Given the description of an element on the screen output the (x, y) to click on. 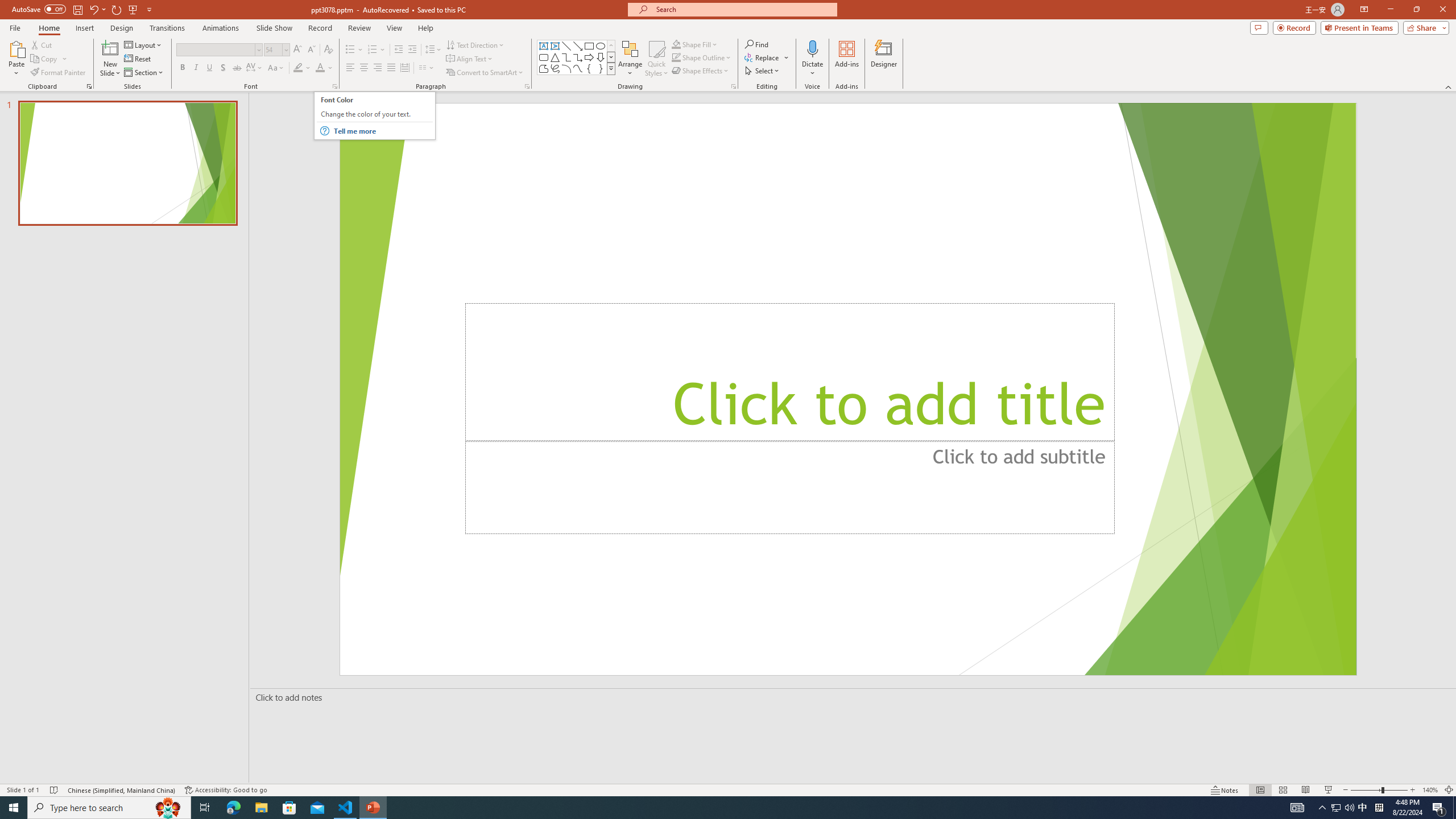
Zoom In (1412, 790)
Zoom (1379, 790)
Transitions (167, 28)
Text Direction (476, 44)
Vertical Text Box (554, 45)
Review (359, 28)
Font (215, 49)
Customize Quick Access Toolbar (149, 9)
Minimize (1390, 9)
Bullets (354, 49)
Present in Teams (1359, 27)
Notes  (1225, 790)
Bold (182, 67)
View (395, 28)
More Options (812, 68)
